Given the description of an element on the screen output the (x, y) to click on. 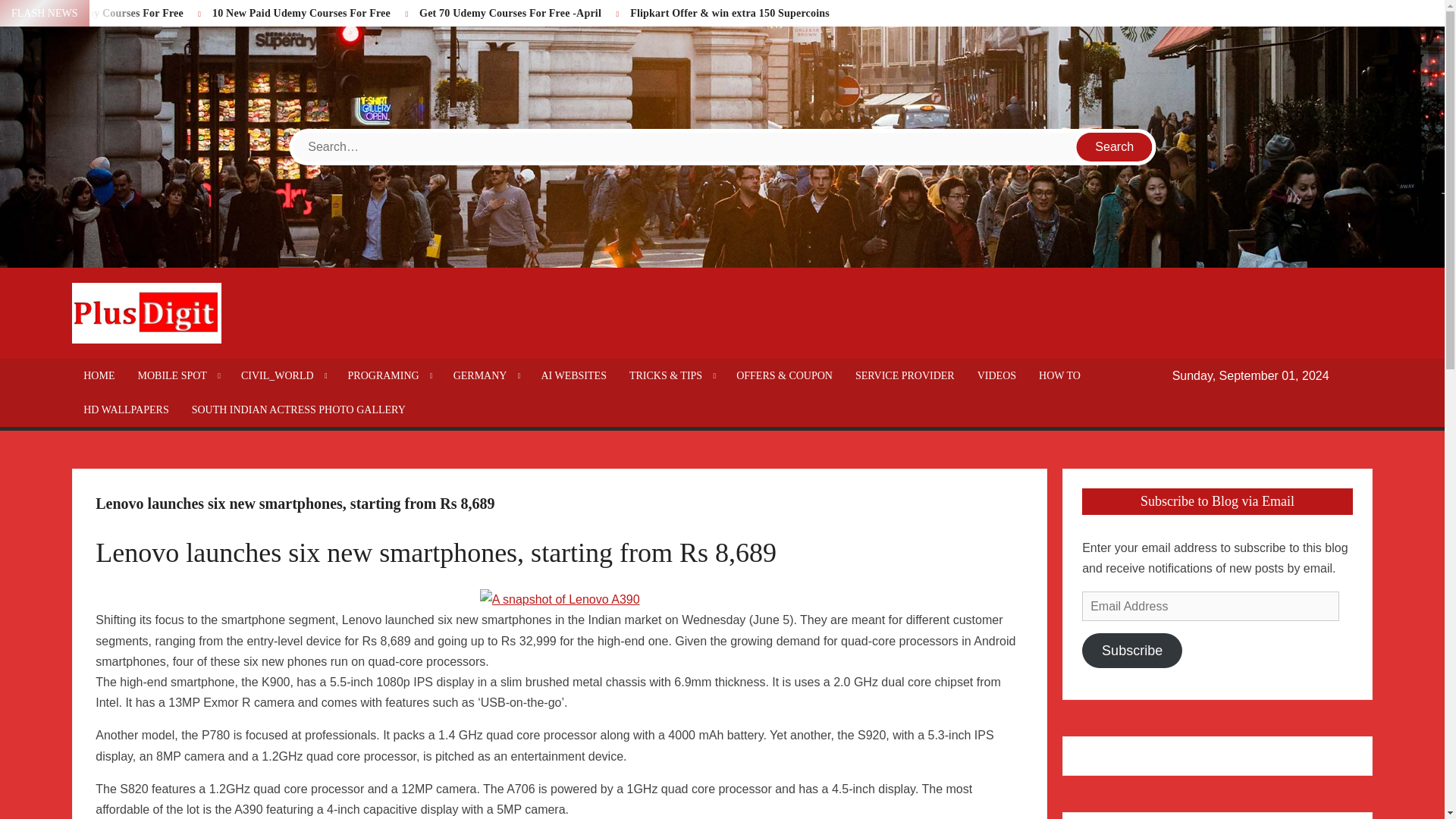
Get 70 Udemy Courses For Free -April (510, 12)
Some Paid Udemy Courses For Free (98, 12)
Get 70 Udemy Courses For Free -April (510, 12)
10 New Paid Udemy Courses For Free (301, 12)
Some Paid Udemy Courses For Free (98, 12)
10 New Paid Udemy Courses For Free (301, 12)
Search (1115, 146)
Search (1115, 146)
A snapshot of Lenovo A390 (560, 598)
